Given the description of an element on the screen output the (x, y) to click on. 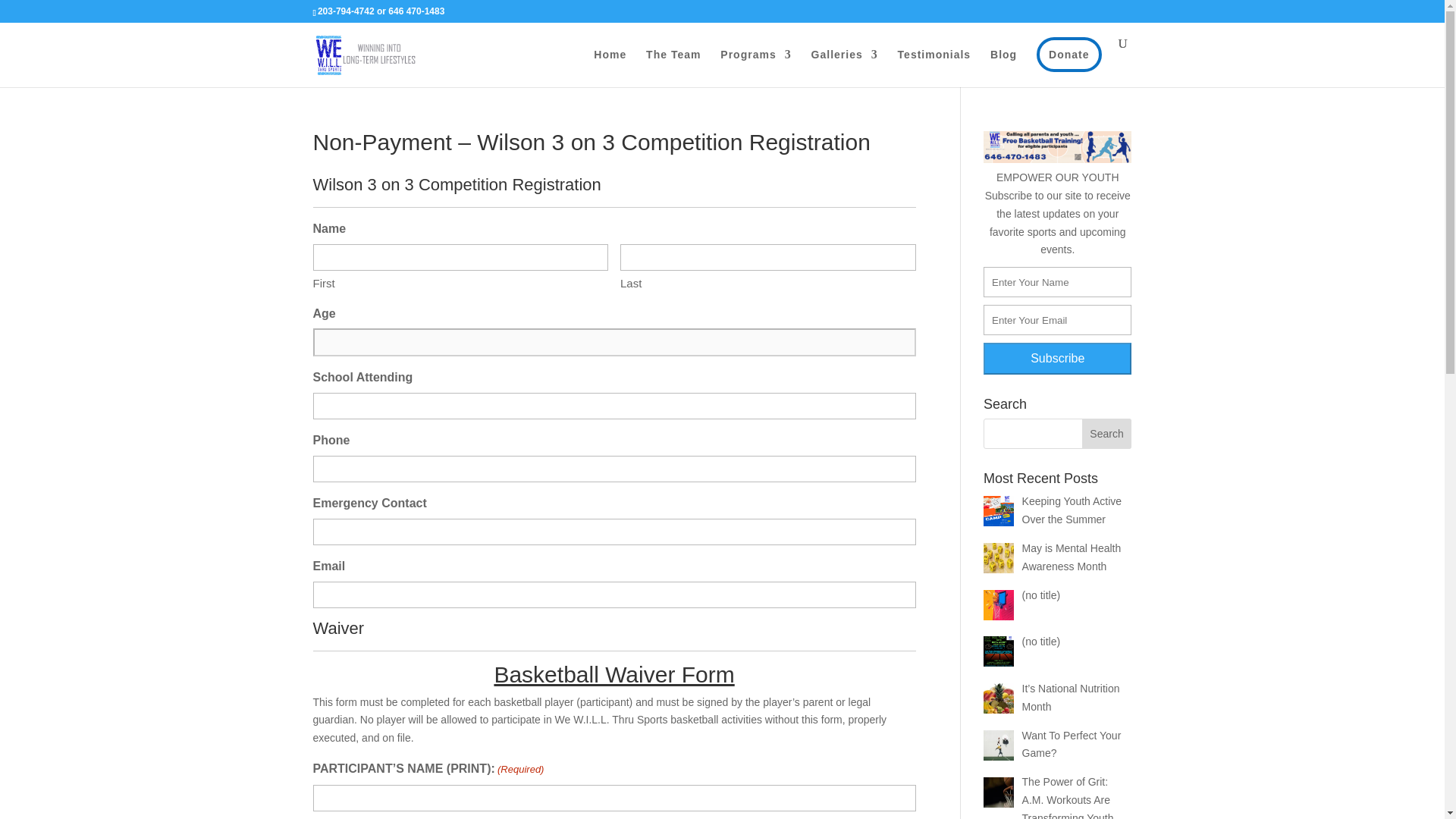
Testimonials (934, 67)
Search (1106, 433)
Programs (755, 67)
Galleries (843, 67)
Subscribe (1057, 358)
Donate (1068, 54)
The Team (673, 67)
